Given the description of an element on the screen output the (x, y) to click on. 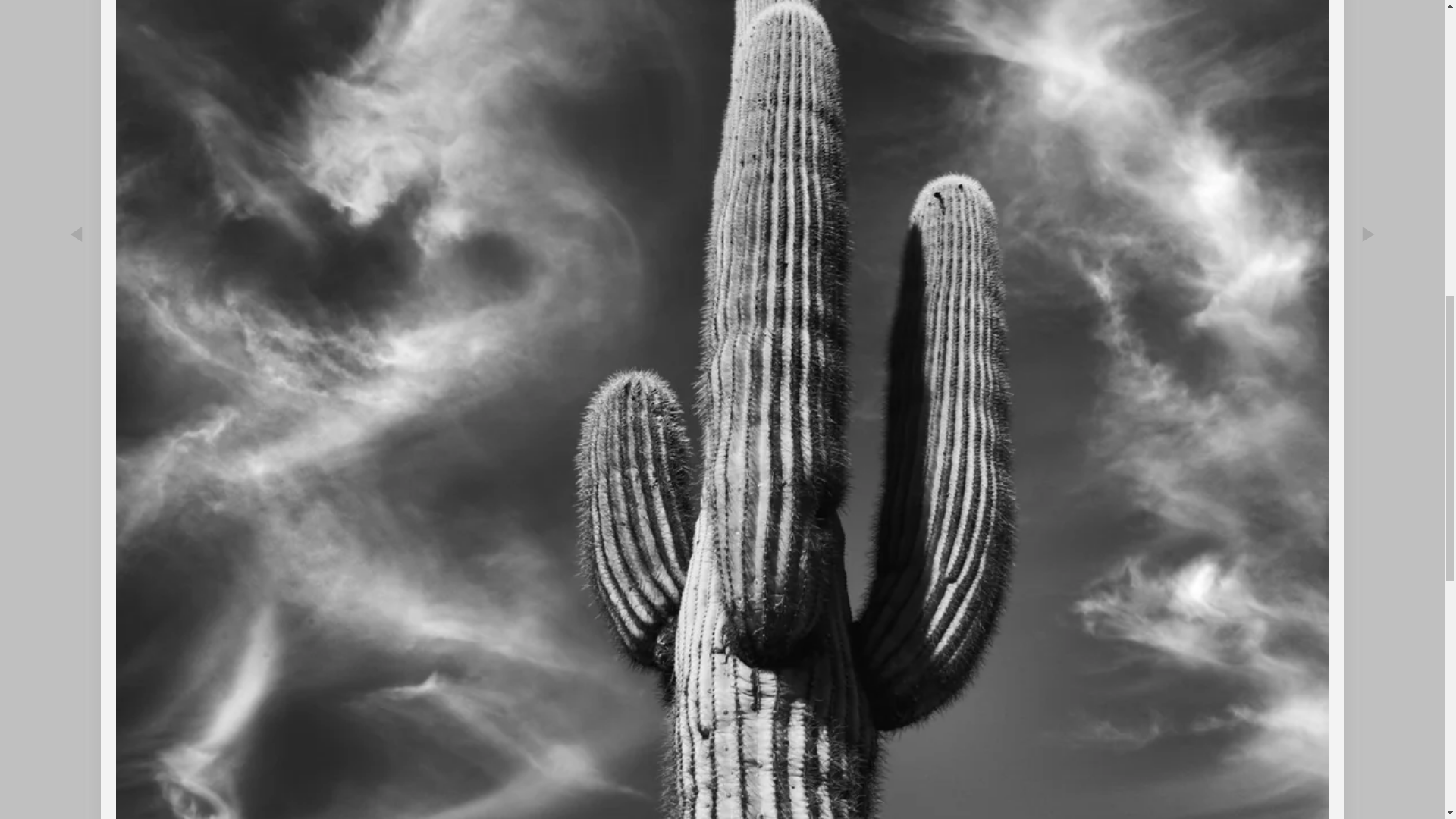
Previous Photo (75, 320)
Next Photo (1368, 320)
